Given the description of an element on the screen output the (x, y) to click on. 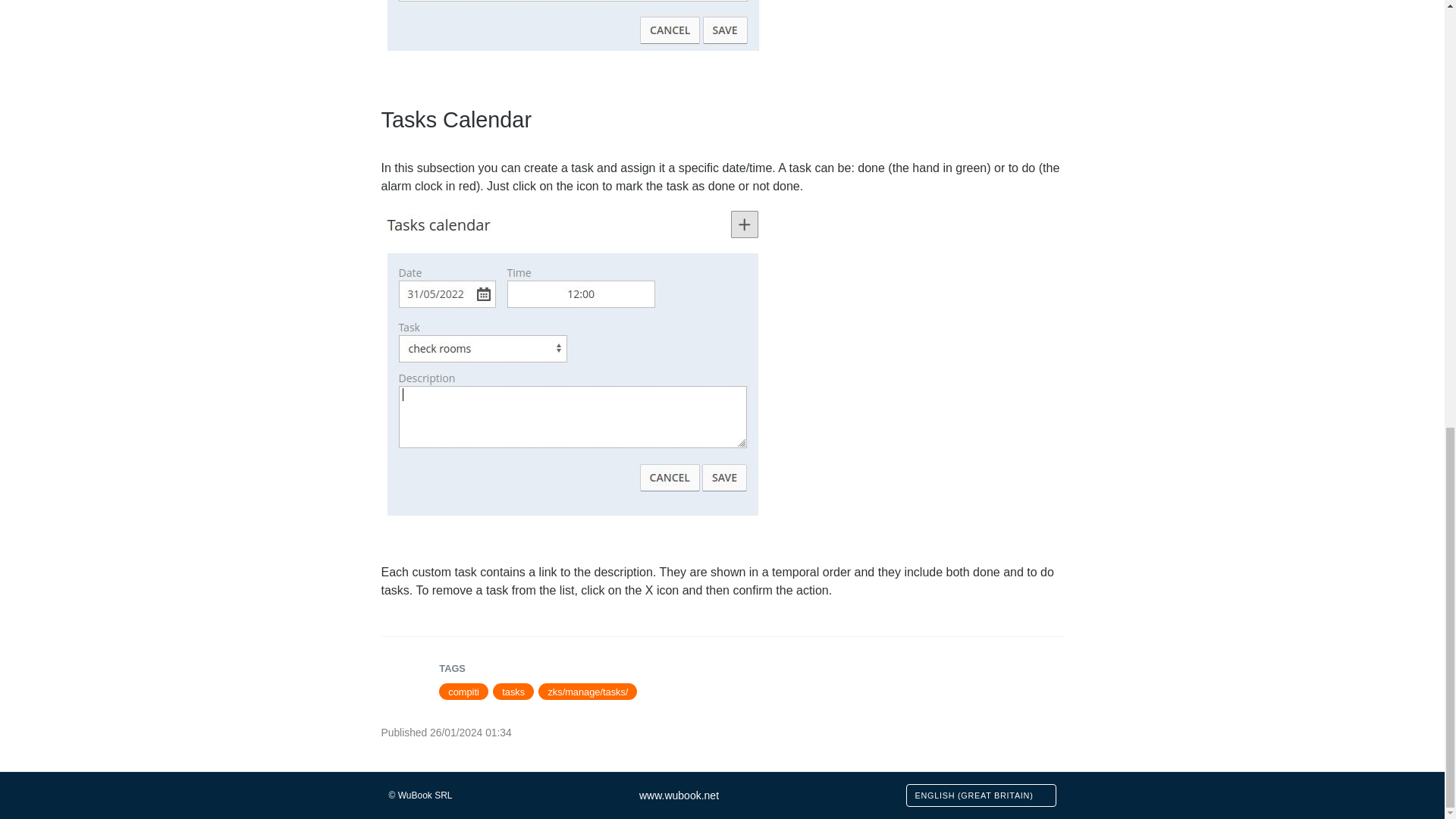
compiti (463, 691)
www.wubook.net (678, 795)
tasks (513, 691)
